Given the description of an element on the screen output the (x, y) to click on. 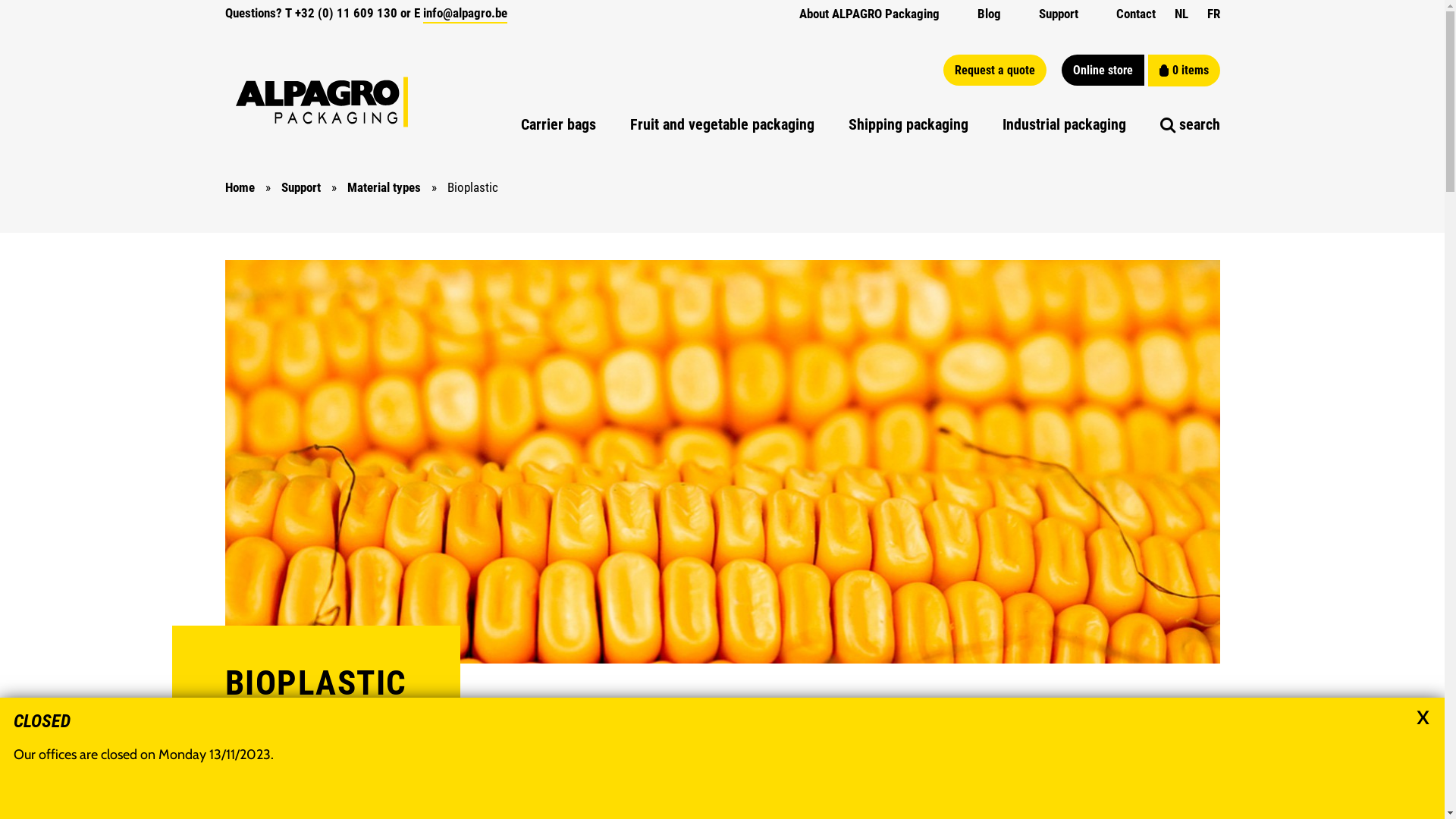
Shipping packaging Element type: text (907, 124)
0 items Element type: text (1184, 70)
Industrial packaging Element type: text (1064, 124)
Online store Element type: text (1102, 69)
Home Element type: text (239, 186)
Support Element type: text (1058, 13)
About ALPAGRO Packaging Element type: text (869, 13)
NL Element type: text (1180, 13)
Request a quote Element type: text (994, 69)
Fruit and vegetable packaging Element type: text (721, 124)
info@alpagro.be Element type: text (465, 13)
search Element type: text (1190, 124)
+32 (0) 11 609 130 Element type: text (345, 12)
Contact Element type: text (1135, 13)
FR Element type: text (1213, 13)
Blog Element type: text (988, 13)
Carrier bags Element type: text (557, 124)
x Element type: text (1422, 714)
Material types Element type: text (383, 186)
Support Element type: text (300, 186)
